Given the description of an element on the screen output the (x, y) to click on. 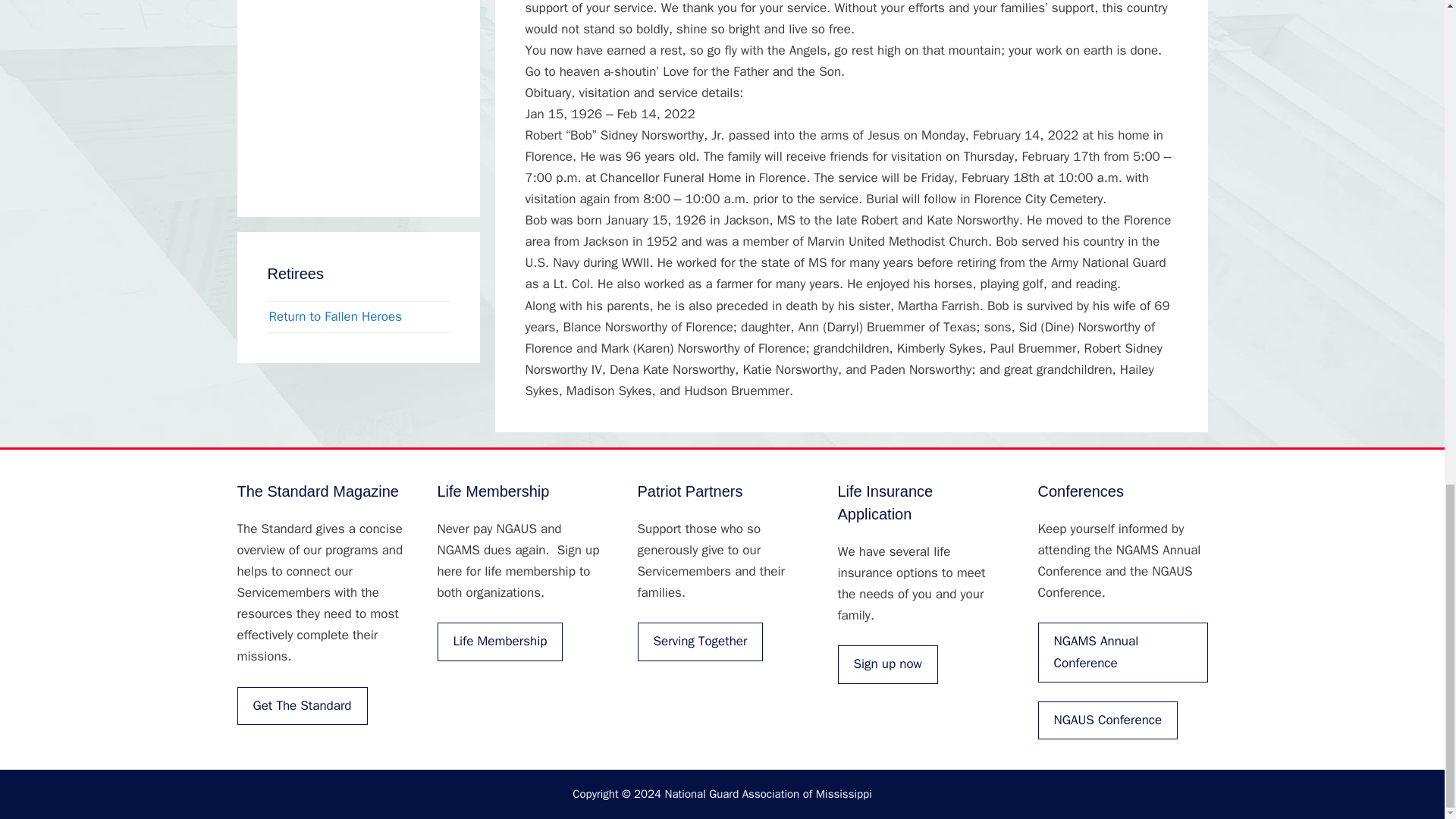
Scroll back to top (1406, 337)
